Given the description of an element on the screen output the (x, y) to click on. 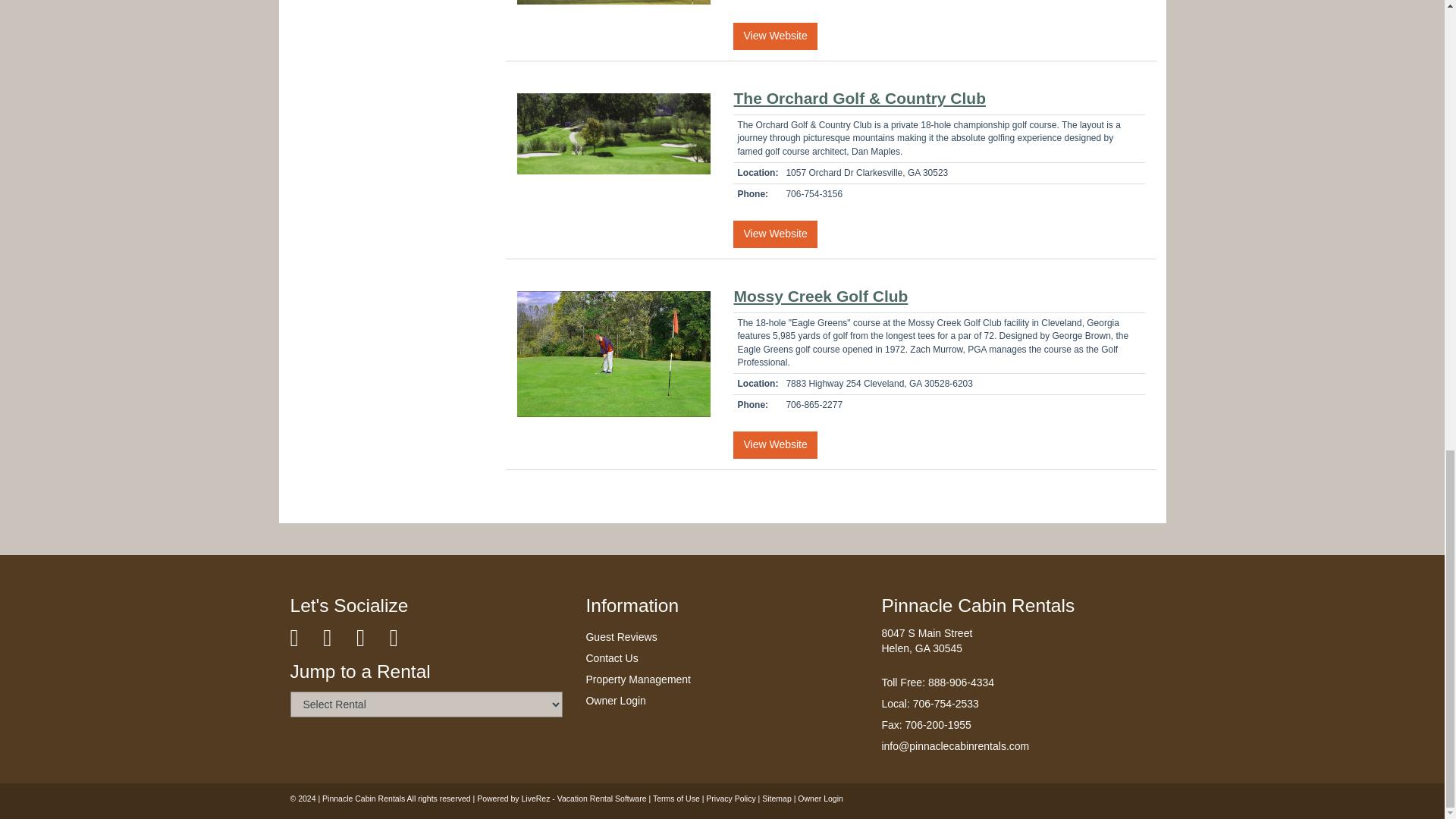
Terms of Use (676, 798)
